Given the description of an element on the screen output the (x, y) to click on. 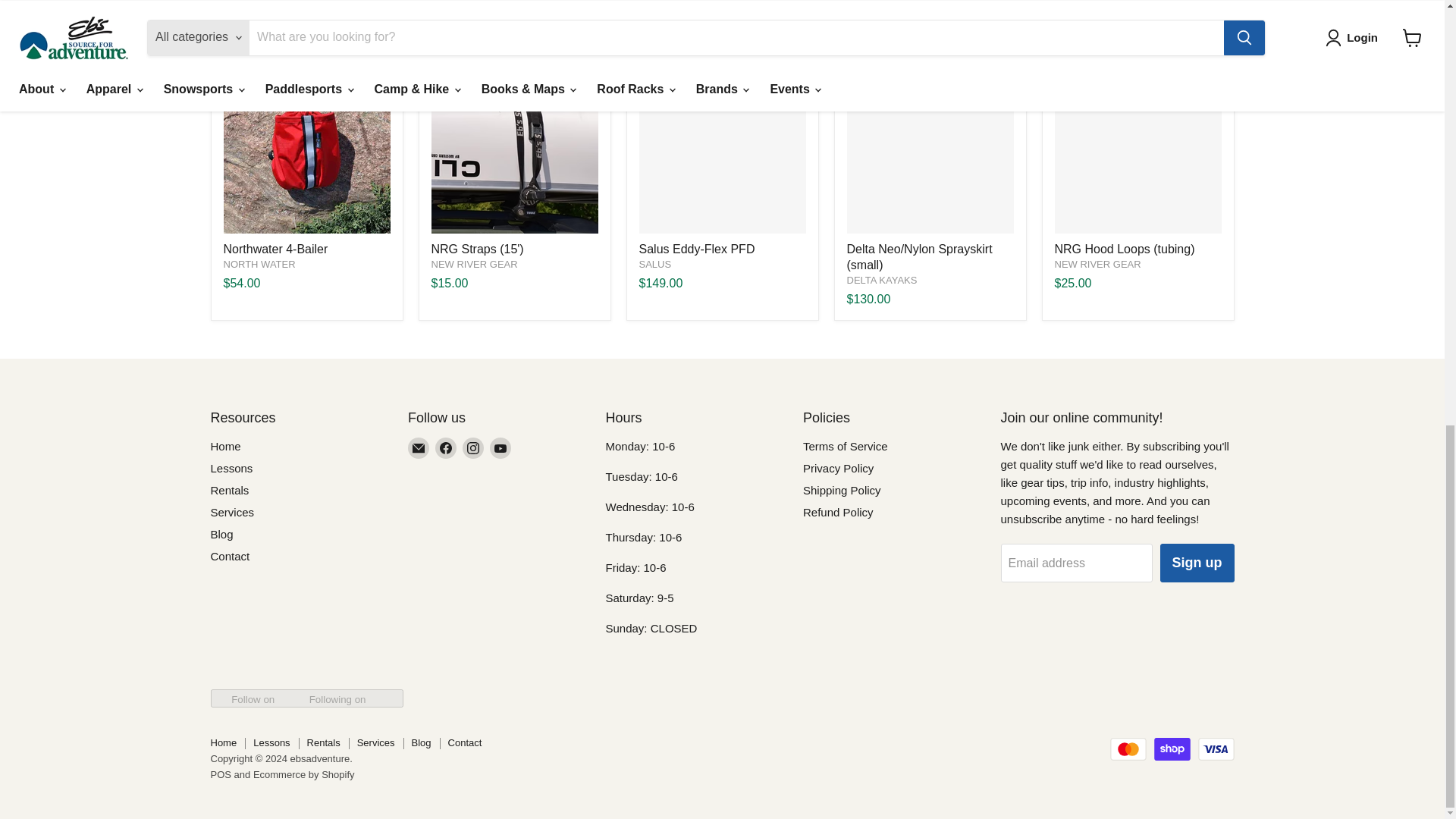
NEW RIVER GEAR (1097, 264)
NORTH WATER (258, 264)
NEW RIVER GEAR (473, 264)
DELTA KAYAKS (881, 279)
Email (418, 447)
SALUS (655, 264)
